Given the description of an element on the screen output the (x, y) to click on. 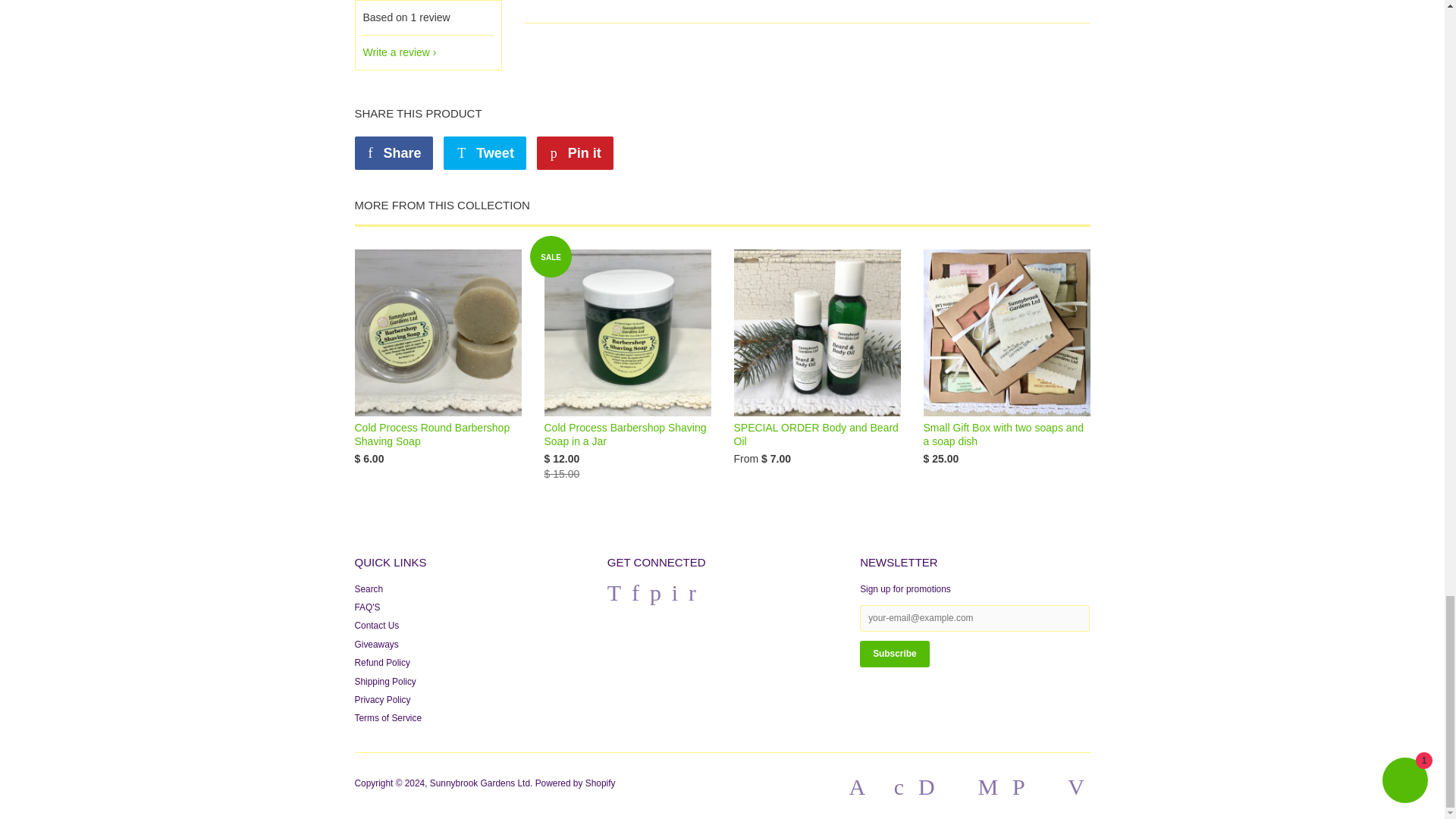
Subscribe (895, 653)
Sunnybrook Gardens Ltd on Pinterest (655, 597)
Sunnybrook Gardens Ltd on Twitter (614, 597)
